Given the description of an element on the screen output the (x, y) to click on. 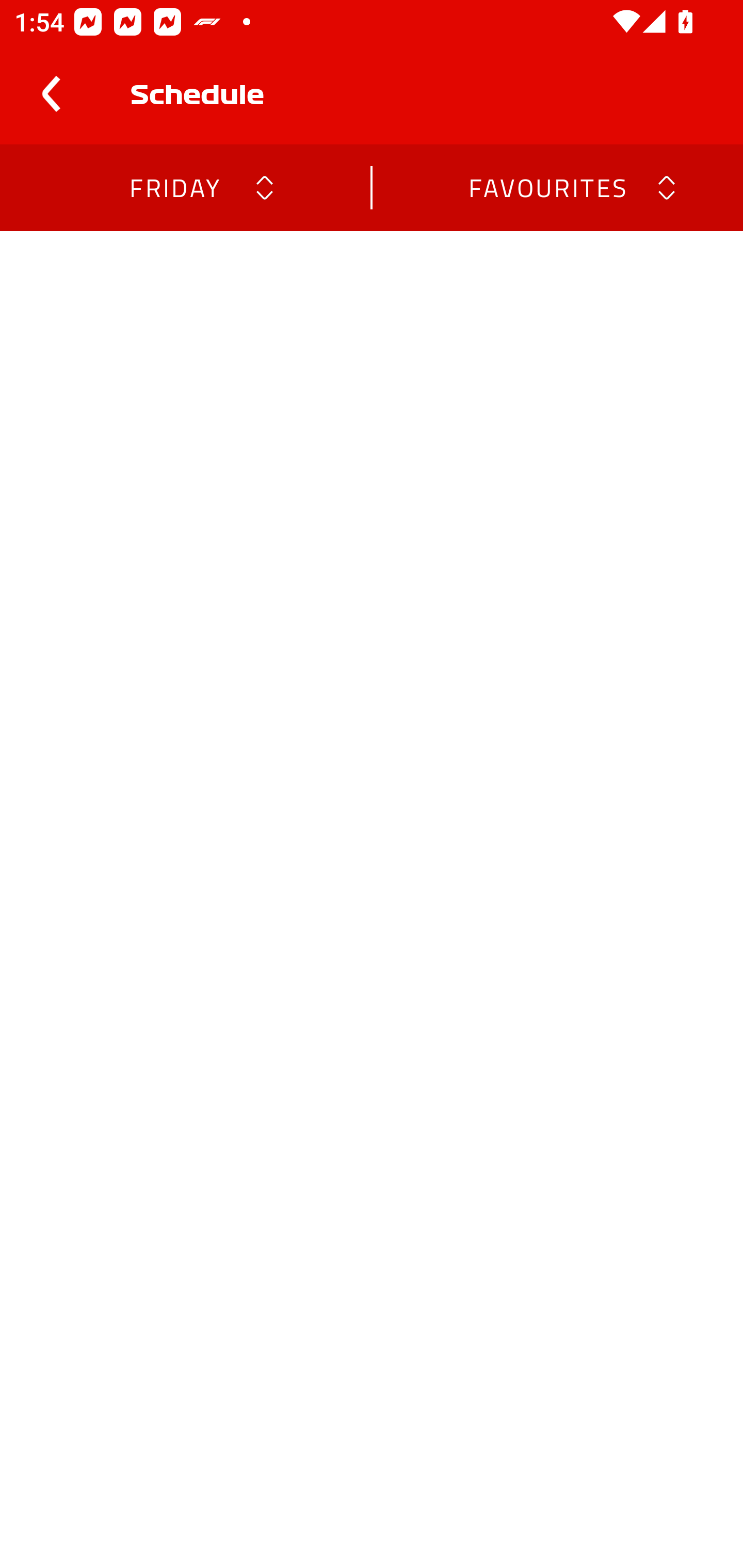
Navigate up (50, 93)
FRIDAY (174, 187)
FAVOURITES (547, 187)
